Given the description of an element on the screen output the (x, y) to click on. 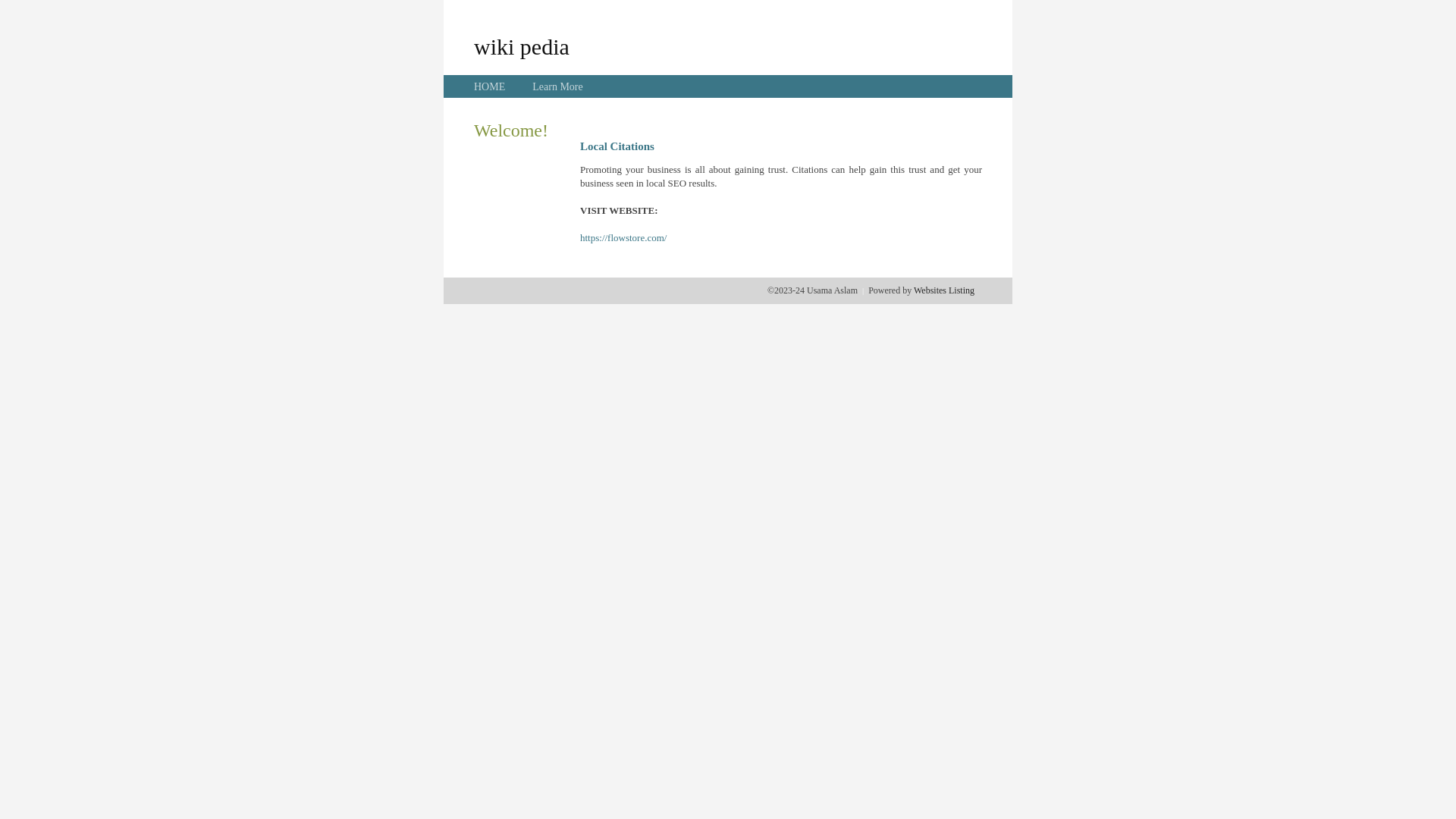
HOME Element type: text (489, 86)
Websites Listing Element type: text (943, 290)
Learn More Element type: text (557, 86)
wiki pedia Element type: text (521, 46)
https://flowstore.com/ Element type: text (623, 237)
